Given the description of an element on the screen output the (x, y) to click on. 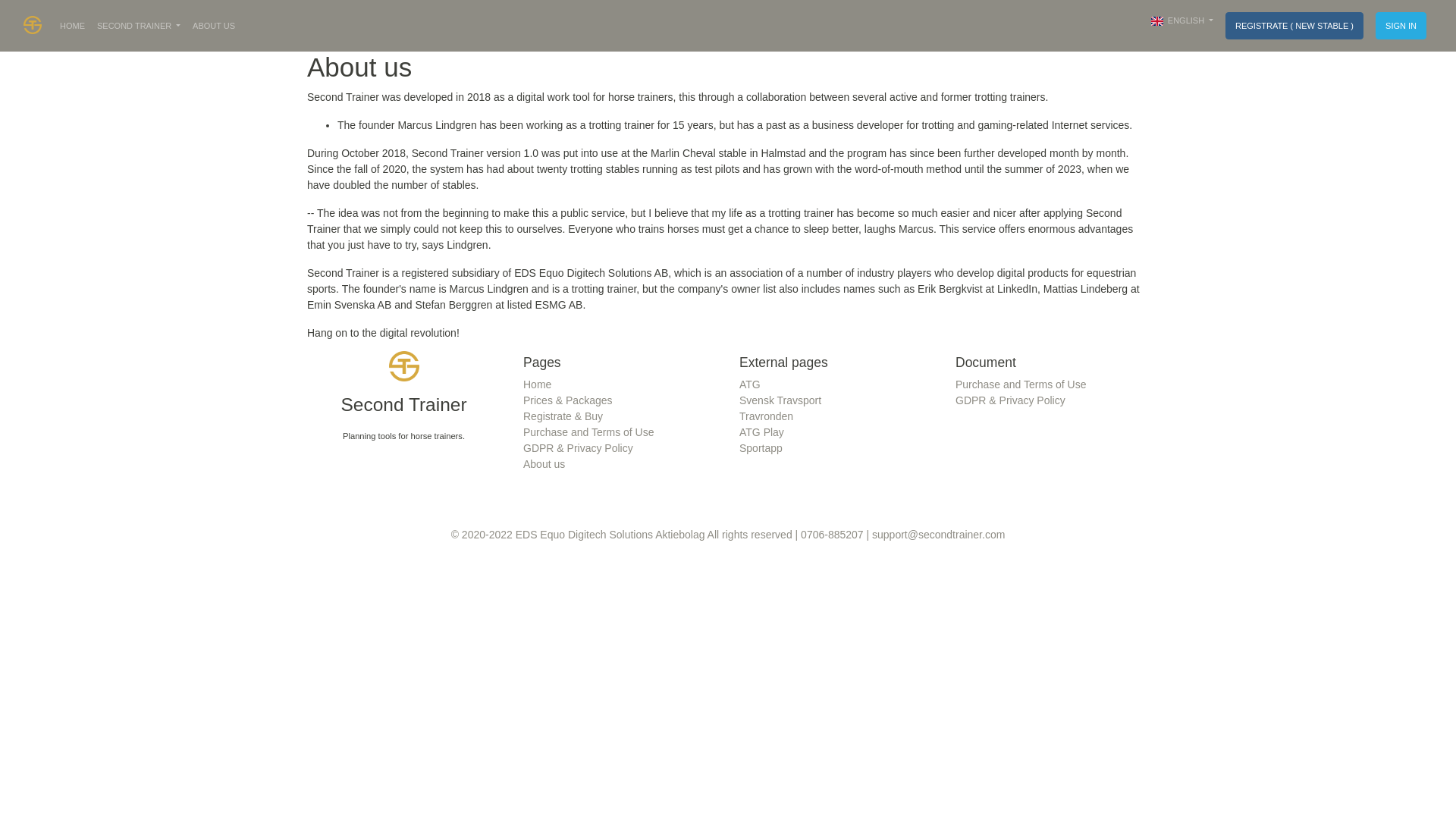
Travronden (766, 416)
ATG (749, 384)
ENGLISH (1182, 20)
SECOND TRAINER (138, 25)
Purchase and Terms of Use (1020, 384)
Sportapp (761, 448)
ATG Play (761, 431)
Home (536, 384)
Svensk Travsport (780, 399)
SIGN IN (1401, 25)
HOME (71, 25)
About us (543, 463)
ABOUT US (213, 25)
Purchase and Terms of Use (587, 431)
